Given the description of an element on the screen output the (x, y) to click on. 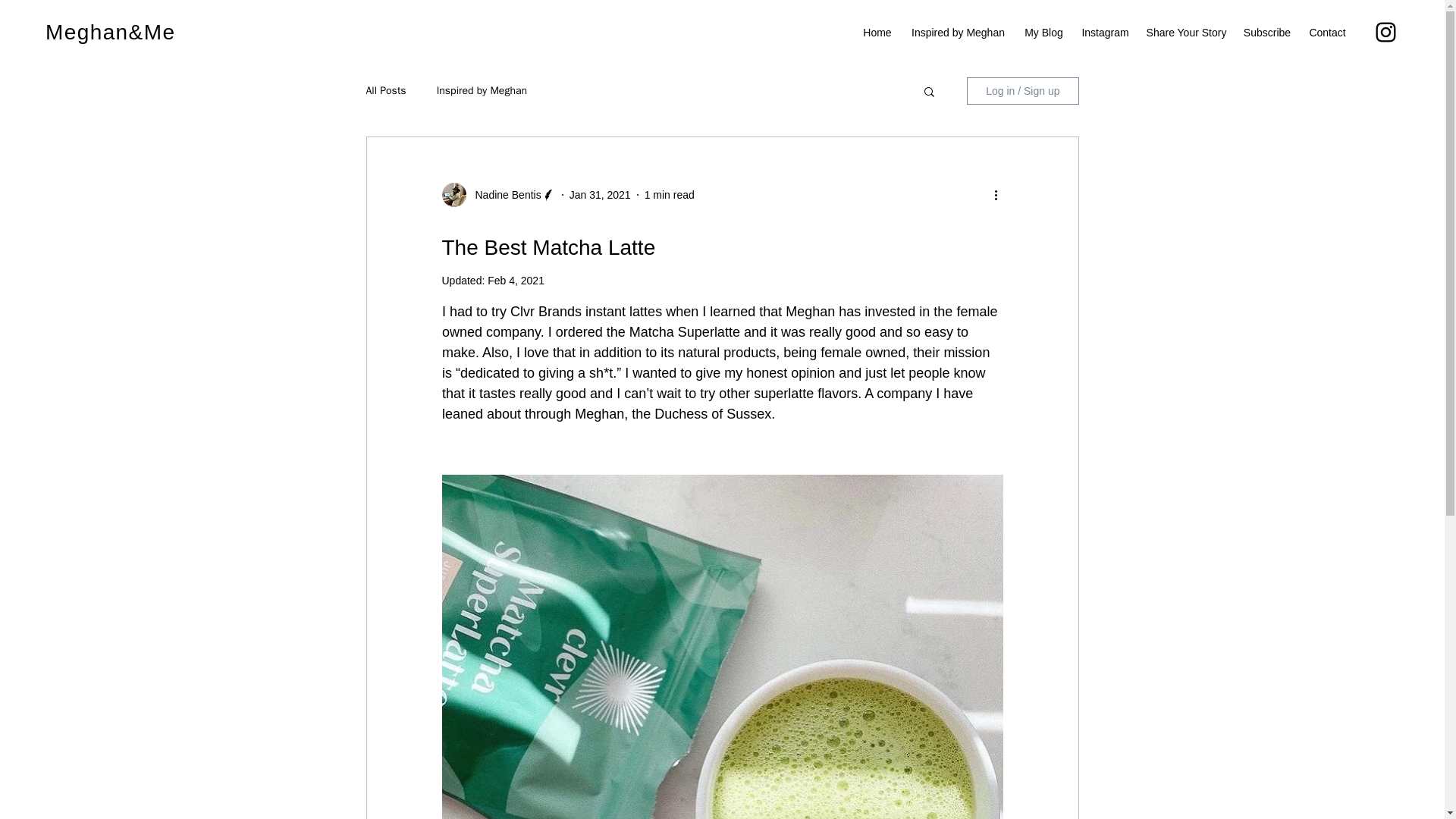
Share Your Story (1186, 32)
Inspired by Meghan (957, 32)
Jan 31, 2021 (599, 194)
Inspired by Meghan (481, 90)
My Blog (1042, 32)
Feb 4, 2021 (515, 280)
Home (877, 32)
Contact (1327, 32)
Instagram (1104, 32)
Subscribe (1267, 32)
1 min read (669, 194)
Nadine Bentis (502, 195)
All Posts (385, 90)
